Given the description of an element on the screen output the (x, y) to click on. 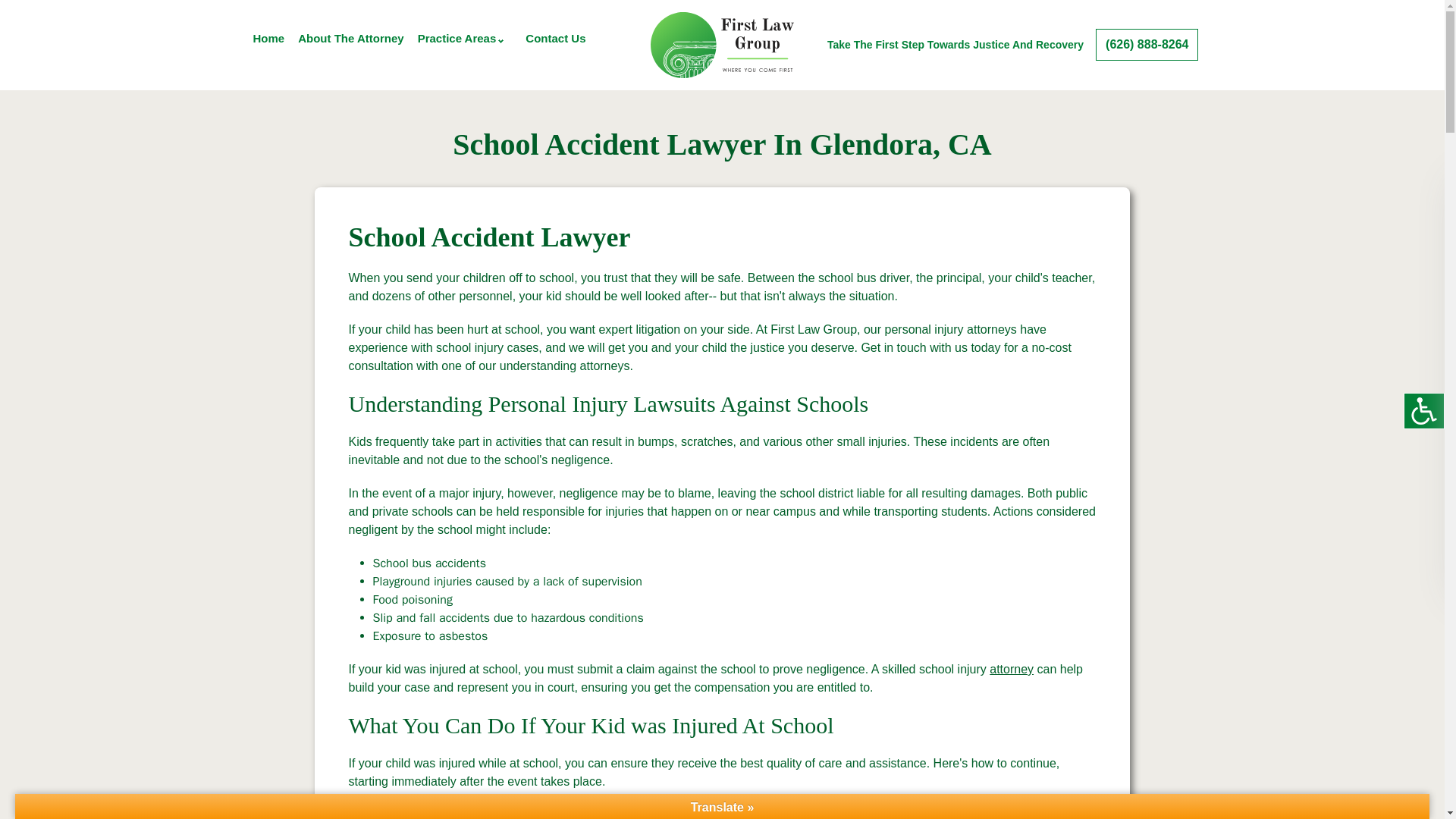
Contact Us (555, 38)
Practice Areas (456, 38)
Home (269, 38)
attorney (1011, 668)
About The Attorney (350, 38)
